Given the description of an element on the screen output the (x, y) to click on. 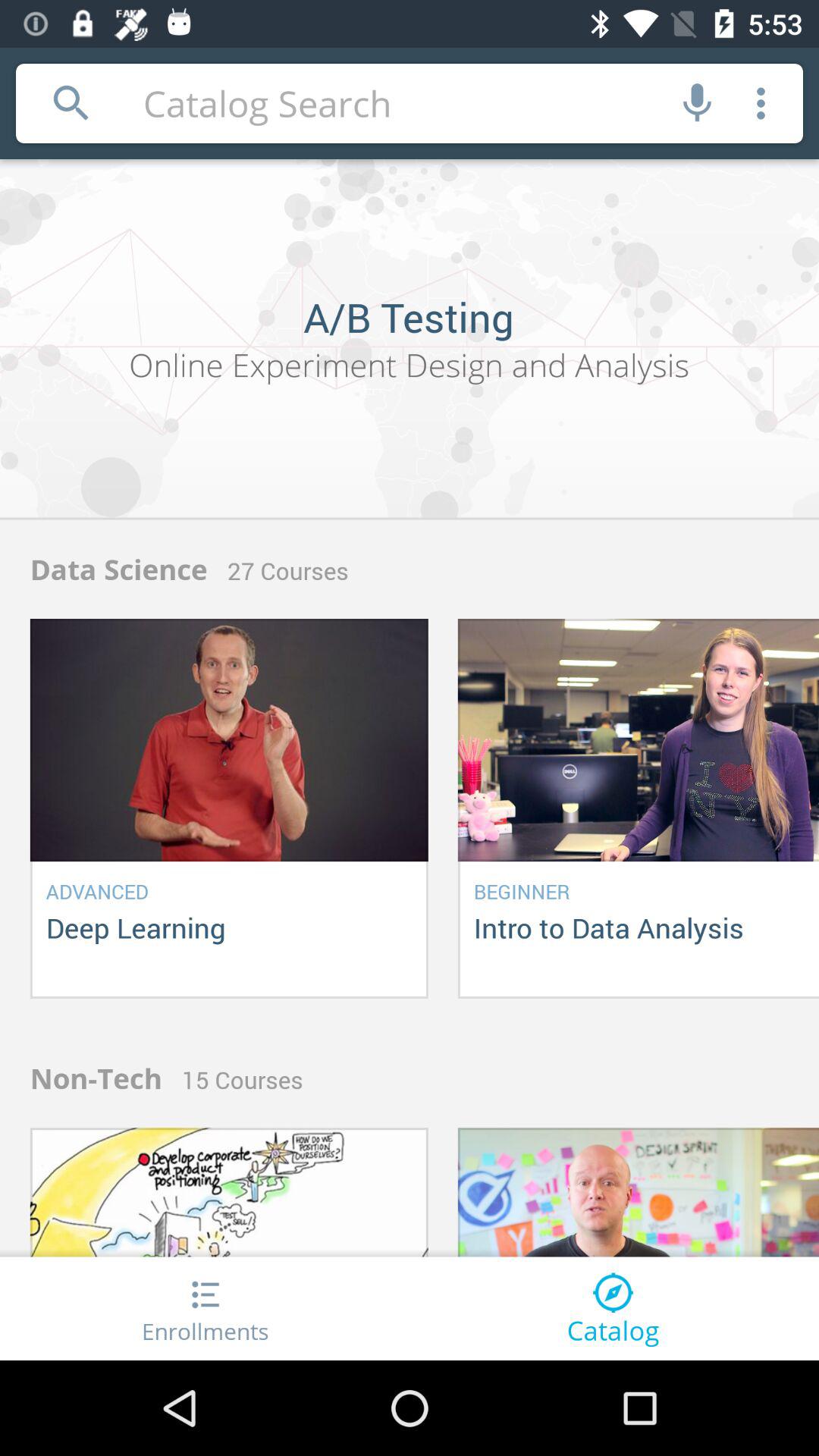
voice option button (697, 103)
